Given the description of an element on the screen output the (x, y) to click on. 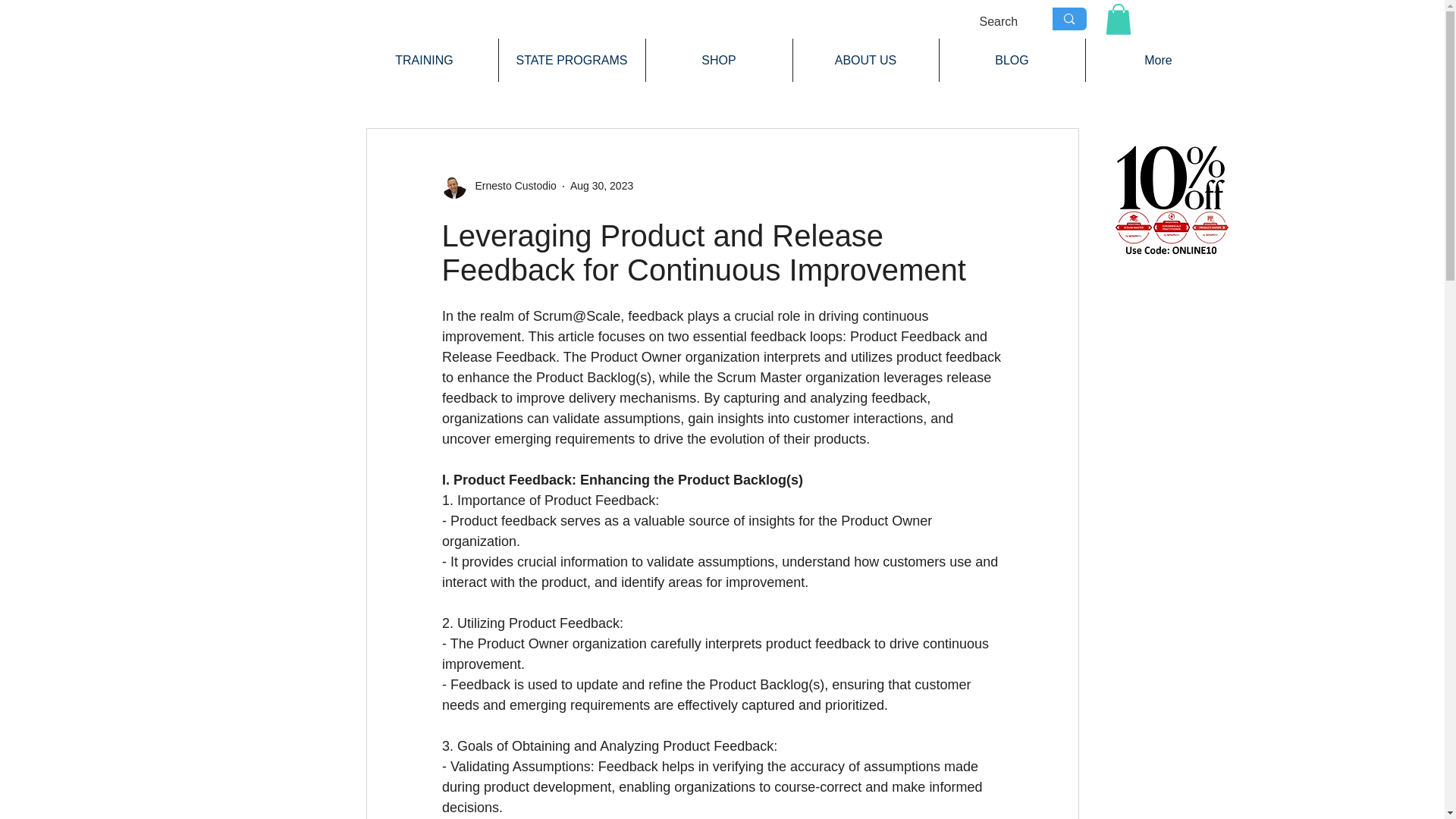
Aug 30, 2023 (601, 185)
Ernesto Custodio (510, 186)
SHOP (719, 59)
Ernesto Custodio (498, 186)
BLOG (1011, 59)
TRAINING (423, 59)
ONLINE DISCOUNT (1169, 198)
